Given the description of an element on the screen output the (x, y) to click on. 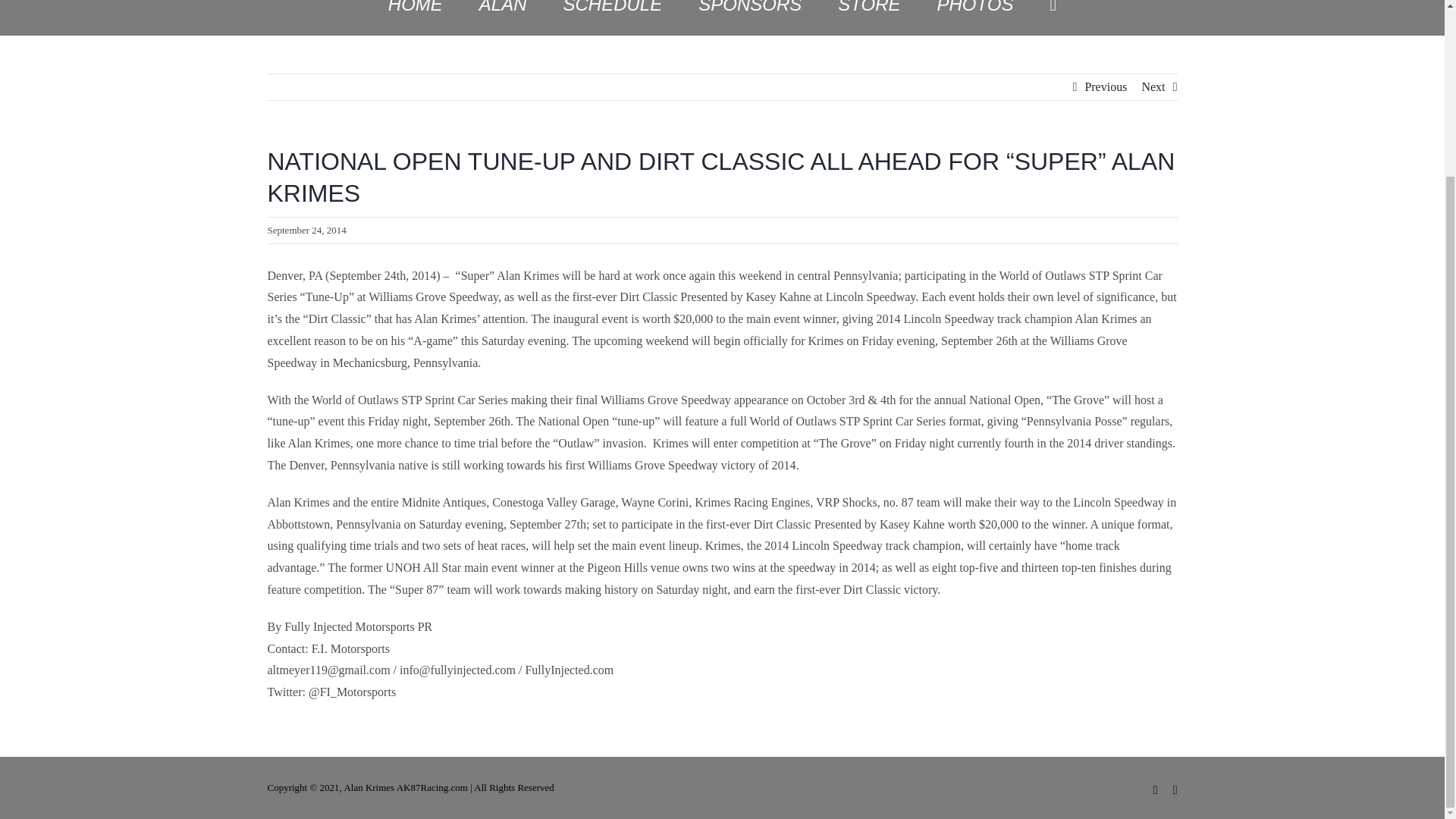
SCHEDULE (612, 17)
ALAN (503, 17)
Previous (1105, 86)
Next (1152, 86)
PHOTOS (975, 17)
STORE (868, 17)
SPONSORS (750, 17)
HOME (415, 17)
